Given the description of an element on the screen output the (x, y) to click on. 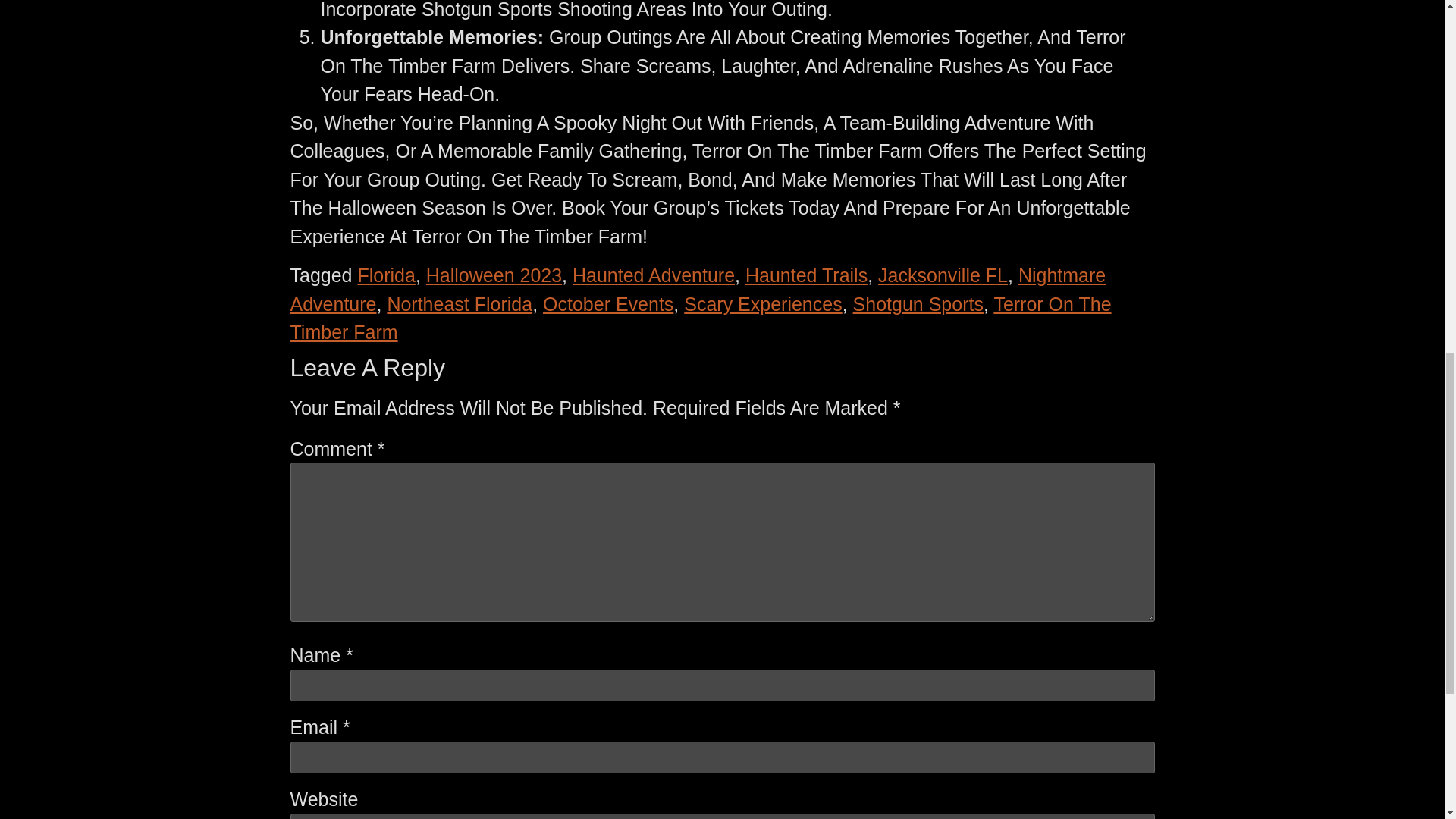
Terror On The Timber Farm (699, 318)
Northeast Florida (459, 303)
Jacksonville FL (942, 274)
Florida (385, 274)
October Events (607, 303)
Haunted Adventure (653, 274)
Shotgun Sports (918, 303)
Halloween 2023 (494, 274)
Haunted Trails (806, 274)
Nightmare Adventure (697, 289)
